Given the description of an element on the screen output the (x, y) to click on. 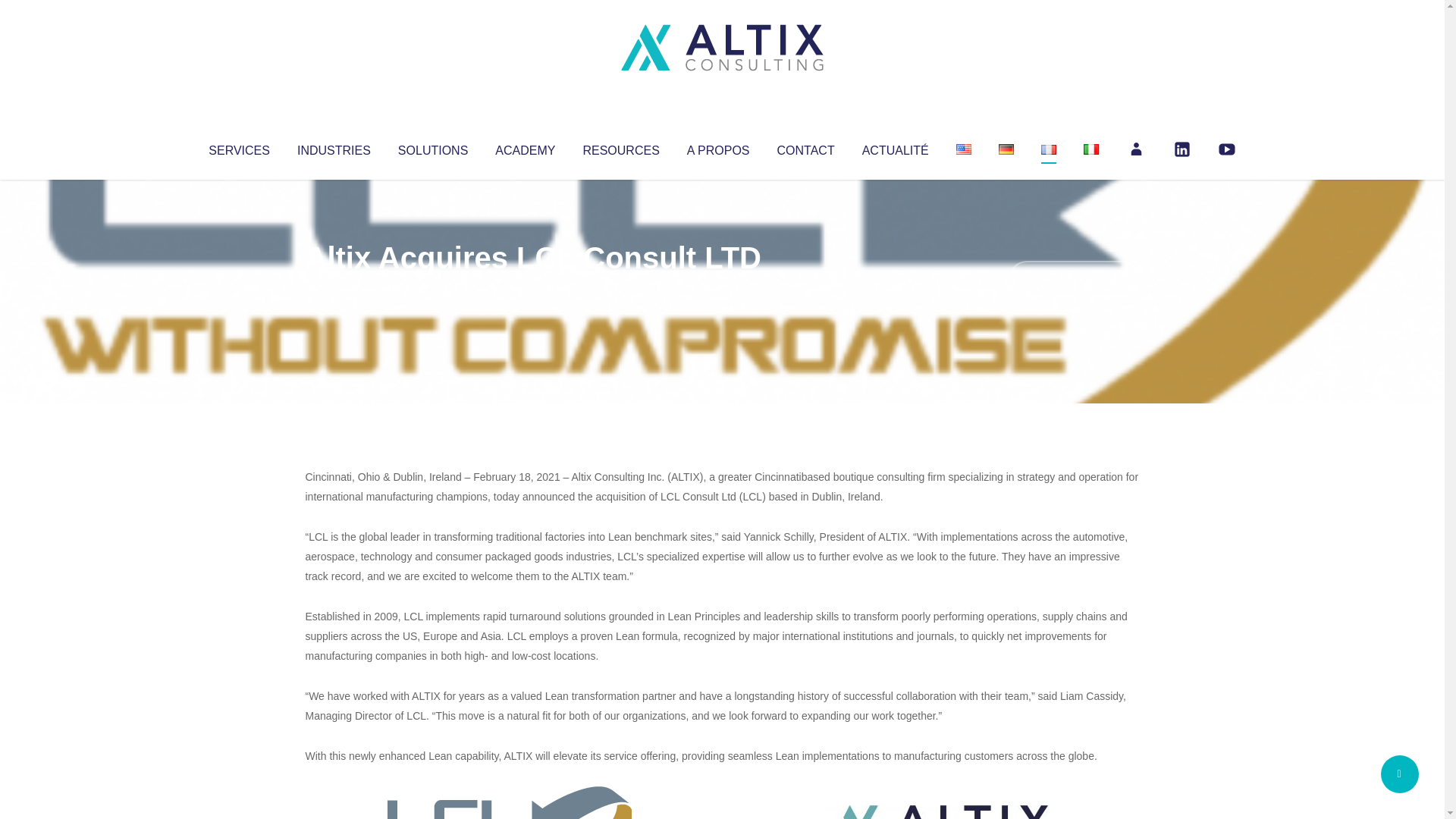
Altix (333, 287)
INDUSTRIES (334, 146)
SERVICES (238, 146)
Articles par Altix (333, 287)
SOLUTIONS (432, 146)
RESOURCES (620, 146)
ACADEMY (524, 146)
A PROPOS (718, 146)
No Comments (1073, 278)
Uncategorized (530, 287)
